Given the description of an element on the screen output the (x, y) to click on. 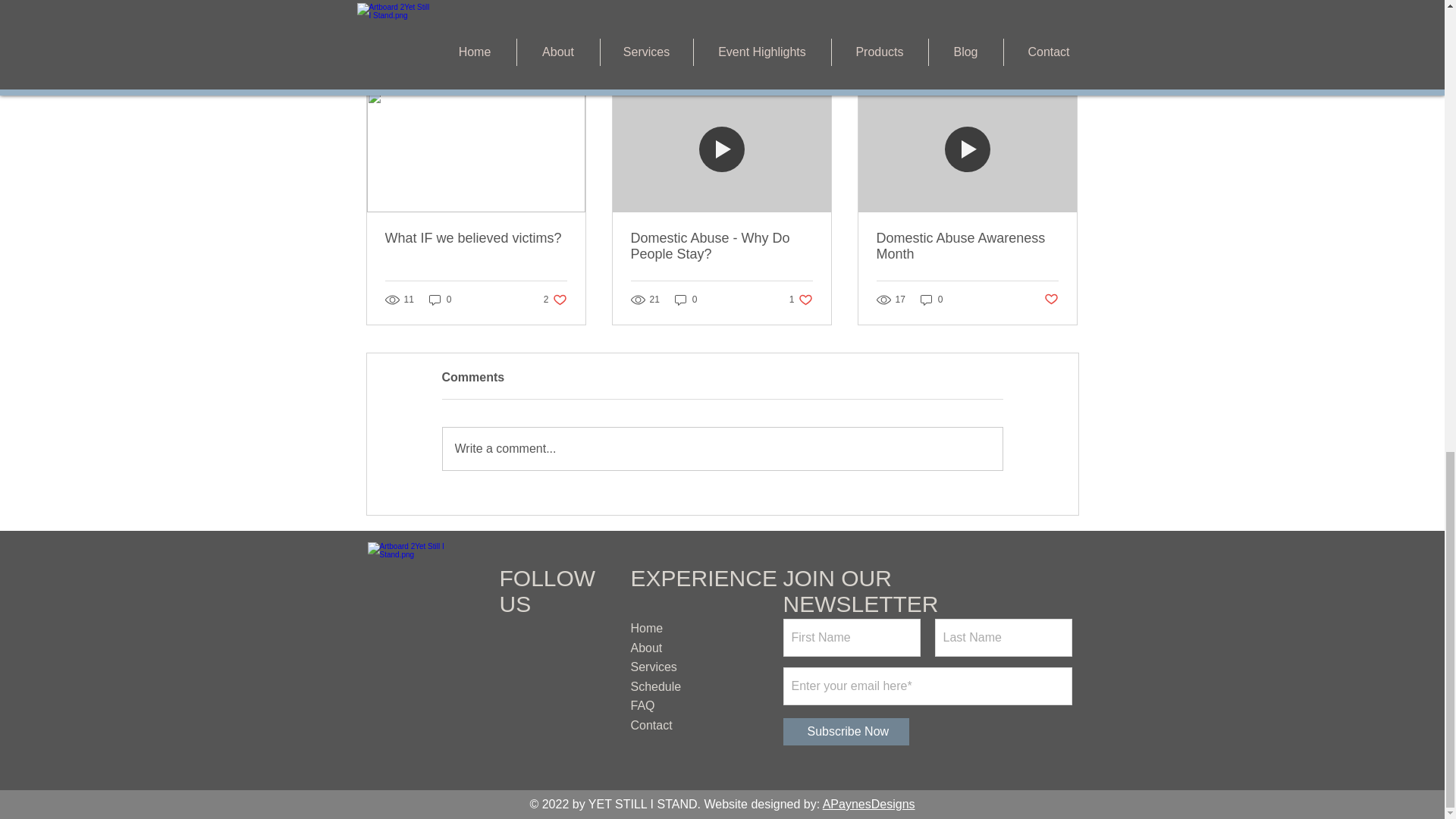
About (646, 647)
Contact (651, 725)
Post not marked as liked (1050, 299)
See All (1061, 62)
Domestic Abuse Awareness Month (967, 246)
Domestic Abuse - Why Do People Stay? (721, 246)
FAQ (642, 705)
Home (646, 627)
Write a comment... (722, 448)
Schedule (655, 686)
0 (931, 299)
Services (653, 666)
0 (685, 299)
What IF we believed victims? (800, 299)
